Given the description of an element on the screen output the (x, y) to click on. 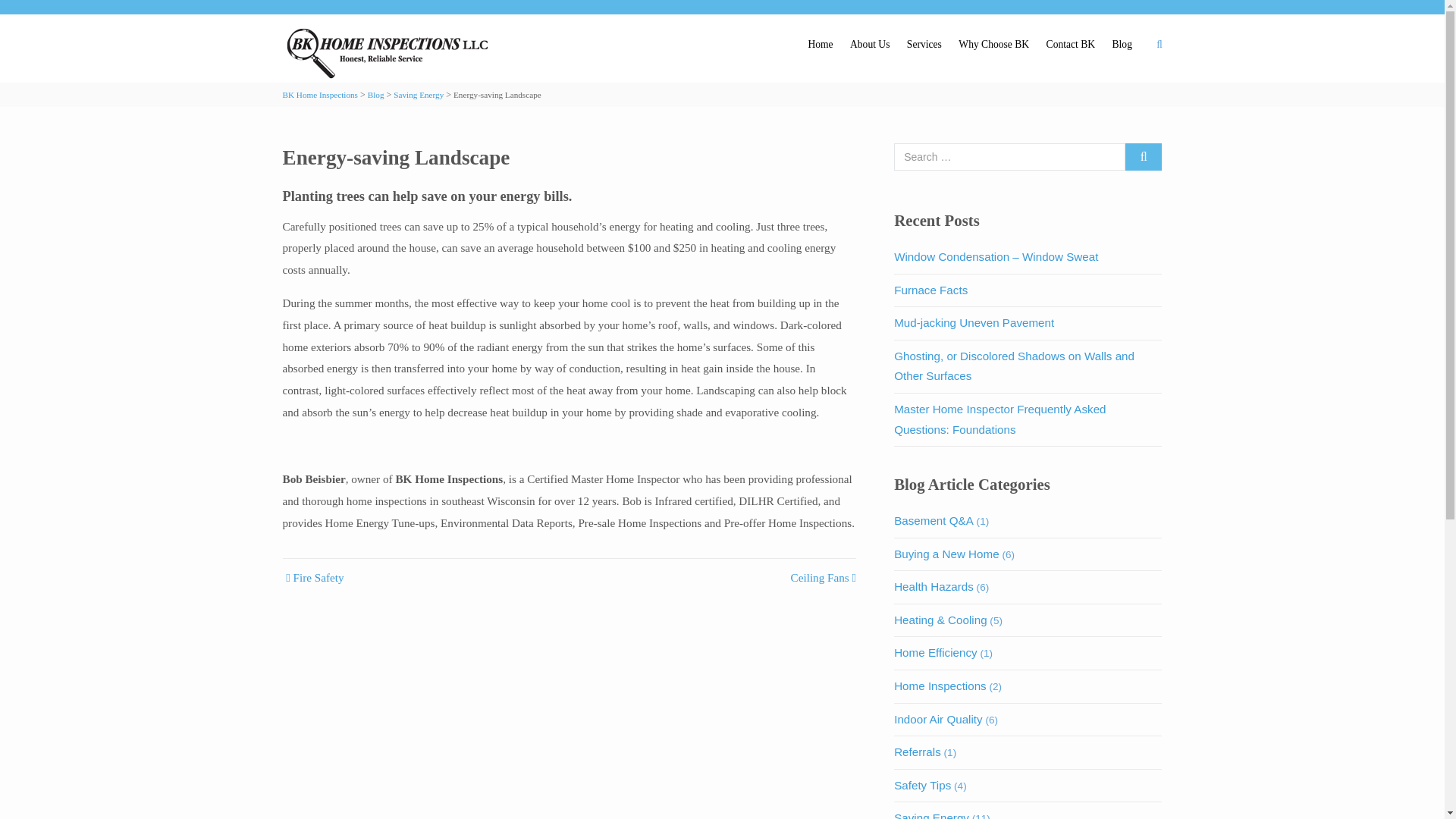
BK Home Inspections (389, 51)
Blog (376, 94)
About Us (869, 44)
Go to the Saving Energy Category archives. (418, 94)
Go to BK Home Inspections. (319, 94)
Saving Energy (418, 94)
BK Home Inspections (319, 94)
Contact BK (1069, 44)
Go to Blog. (376, 94)
Why Choose BK (993, 44)
